Given the description of an element on the screen output the (x, y) to click on. 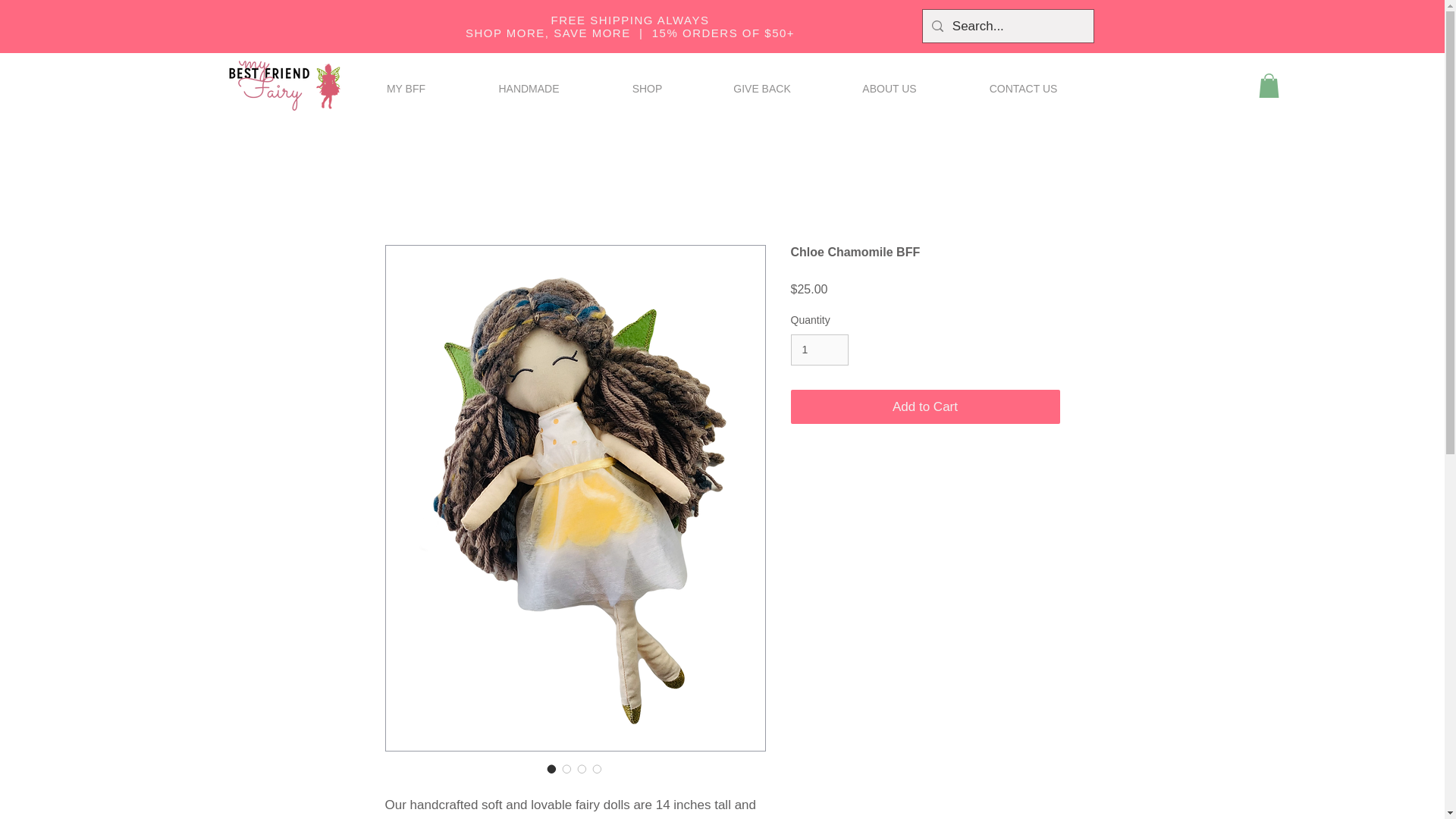
1 (818, 349)
ABOUT US (890, 88)
CONTACT US (1022, 88)
MY BFF (405, 88)
HANDMADE (528, 88)
SHOP (646, 88)
GIVE BACK (761, 88)
Add to Cart (924, 407)
